Given the description of an element on the screen output the (x, y) to click on. 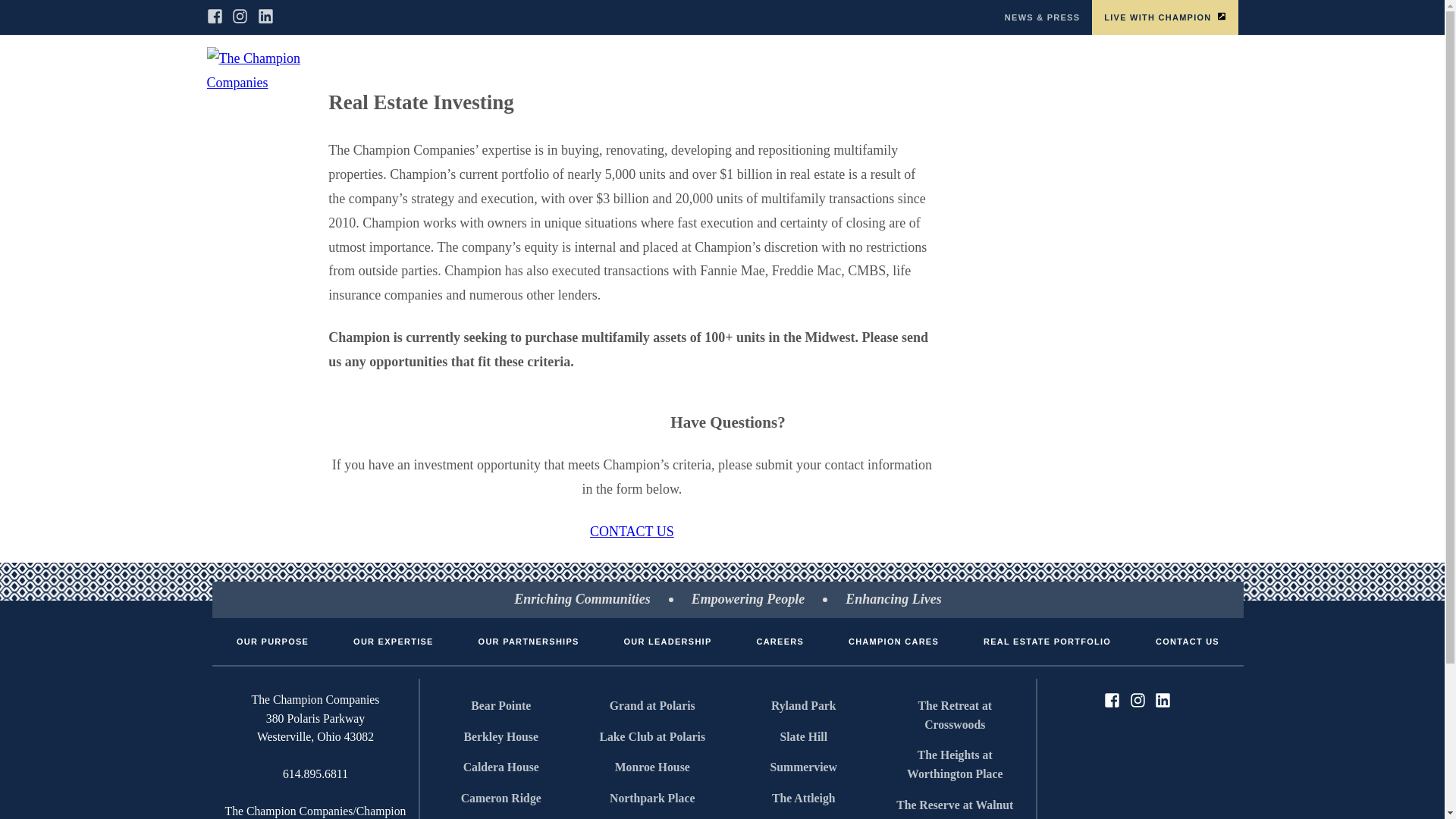
OUR EXPERTISE (622, 71)
LIVE WITH CHAMPION (1164, 17)
CONTACT US (1186, 640)
REAL ESTATE PORTFOLIO (1046, 640)
OUR LEADERSHIP (667, 640)
CAREERS (1062, 71)
Northpark Place (652, 798)
Cameron Ridge (501, 798)
Caldera House (501, 767)
OUR PARTNERSHIPS (737, 71)
